Given the description of an element on the screen output the (x, y) to click on. 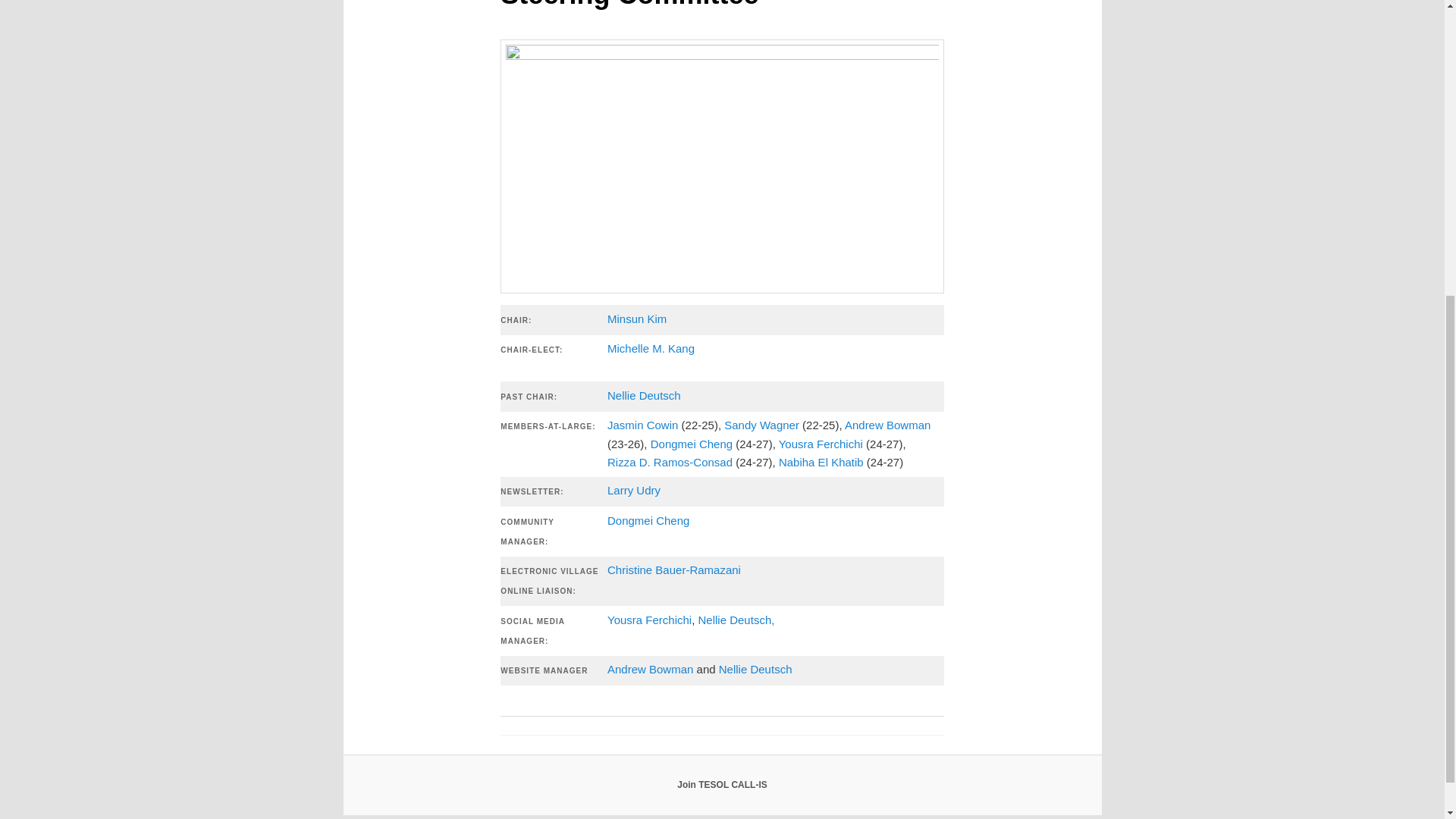
Andrew Bowman (887, 424)
Larry Udry (634, 490)
Yousra Ferchichi (822, 443)
Jasmin Cowin (642, 424)
Dongmei Cheng (693, 443)
Yousra Ferchichi (649, 619)
Rizza D. Ramos-Consad (669, 461)
Nellie Deutsch,  (737, 619)
Nabiha El Khatib (820, 461)
Join TESOL CALL-IS (722, 784)
Christine Bauer-Ramazani (674, 569)
Dongmei Cheng (647, 520)
Minsun Kim (636, 318)
Nellie Deutsch (755, 668)
Michelle M. Kang (650, 348)
